Given the description of an element on the screen output the (x, y) to click on. 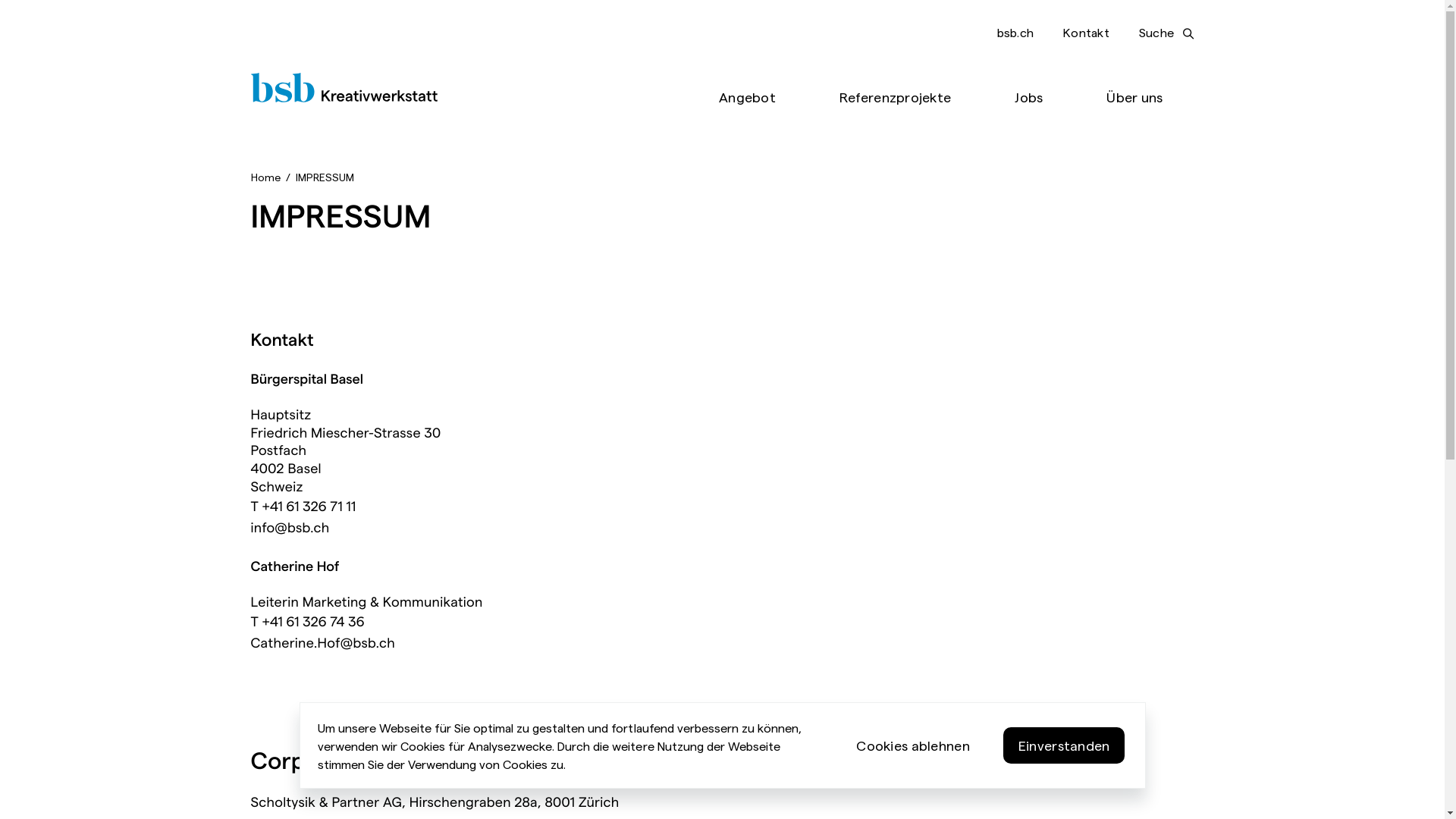
Home Element type: text (264, 176)
Referenzprojekte Element type: text (894, 97)
Cookies ablehnen Element type: text (912, 745)
info@bsb.ch Element type: text (289, 526)
Suche Element type: text (1166, 32)
Catherine.Hof@bsb.ch Element type: text (321, 641)
Kontakt Element type: text (1086, 31)
T +41 61 326 71 11 Element type: text (302, 505)
T +41 61 326 74 36 Element type: text (306, 620)
bsb.ch Element type: text (1015, 31)
Jobs Element type: text (1028, 97)
Einverstanden Element type: text (1064, 745)
Angebot Element type: text (747, 97)
